Given the description of an element on the screen output the (x, y) to click on. 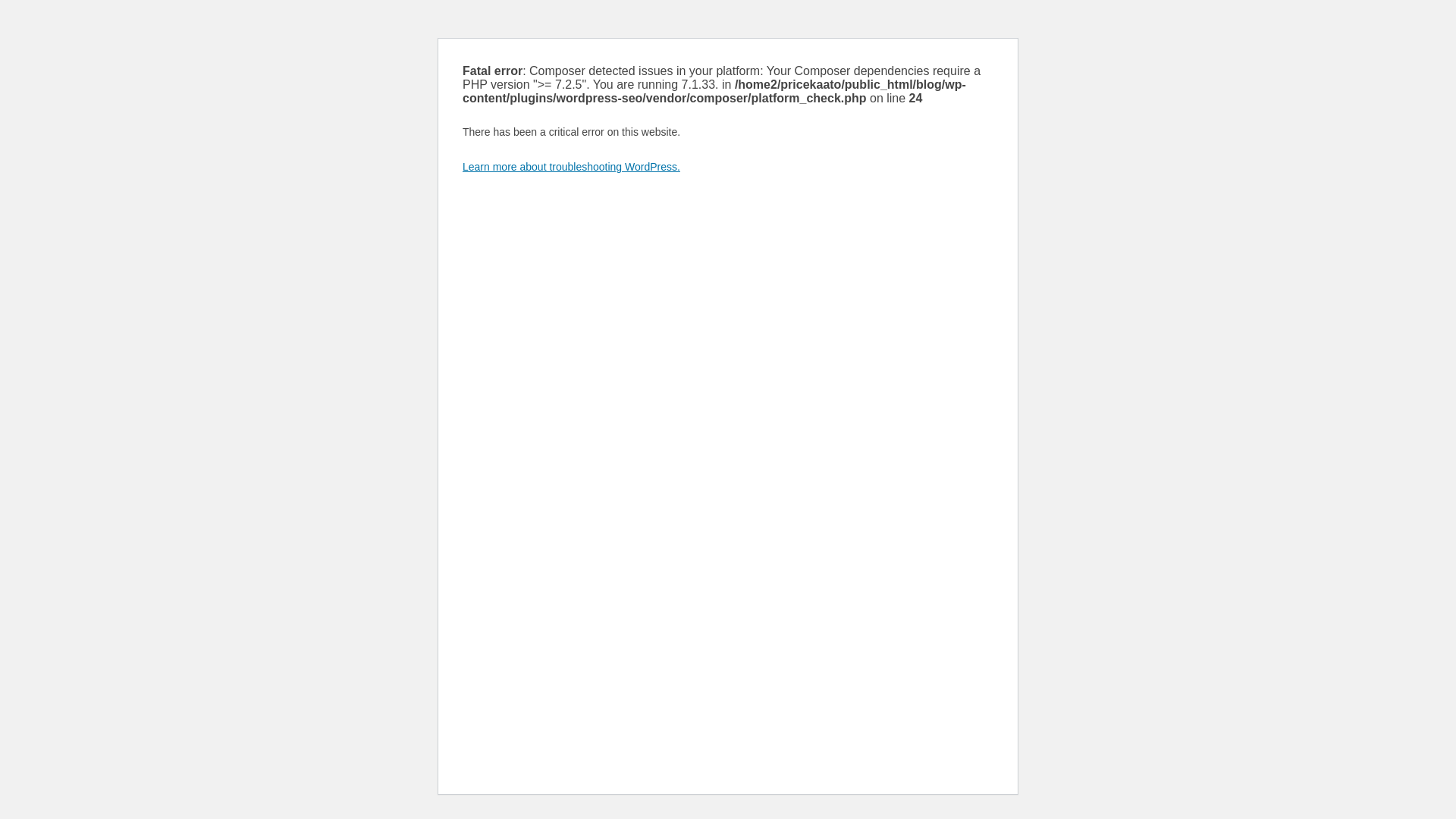
Learn more about troubleshooting WordPress. (571, 166)
